Given the description of an element on the screen output the (x, y) to click on. 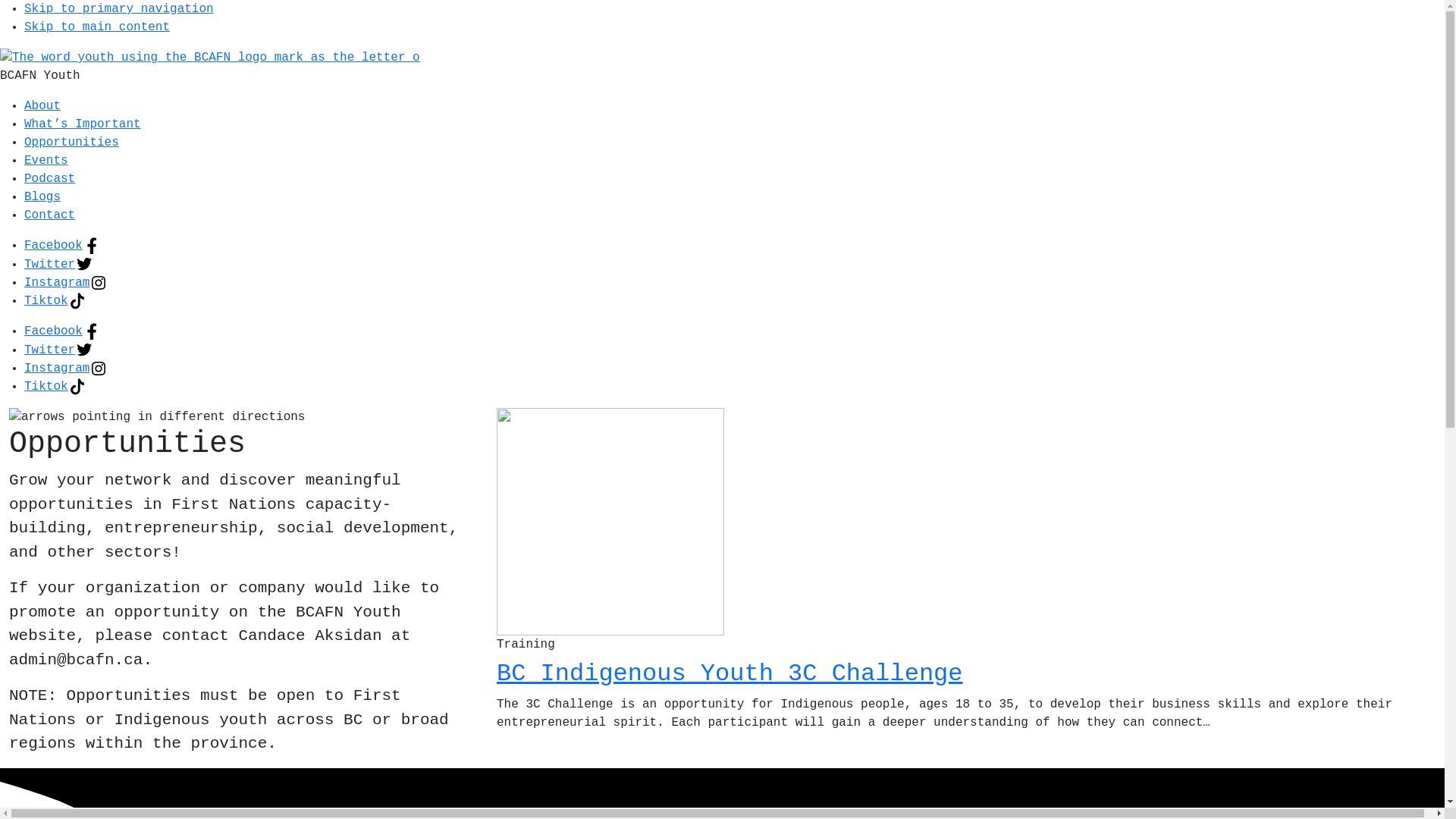
Skip to main content Element type: text (96, 27)
About Element type: text (42, 105)
Tiktok Element type: text (55, 386)
Facebook Element type: text (62, 245)
Podcast Element type: text (49, 178)
Instagram Element type: text (65, 282)
Skip to primary navigation Element type: text (118, 8)
Contact Element type: text (49, 215)
Instagram Element type: text (65, 368)
Twitter Element type: text (58, 350)
Tiktok Element type: text (55, 300)
Twitter Element type: text (58, 264)
Events Element type: text (46, 160)
Opportunities Element type: text (71, 142)
Blogs Element type: text (42, 196)
BC Indigenous Youth 3C Challenge Element type: text (729, 673)
Facebook Element type: text (62, 331)
